Given the description of an element on the screen output the (x, y) to click on. 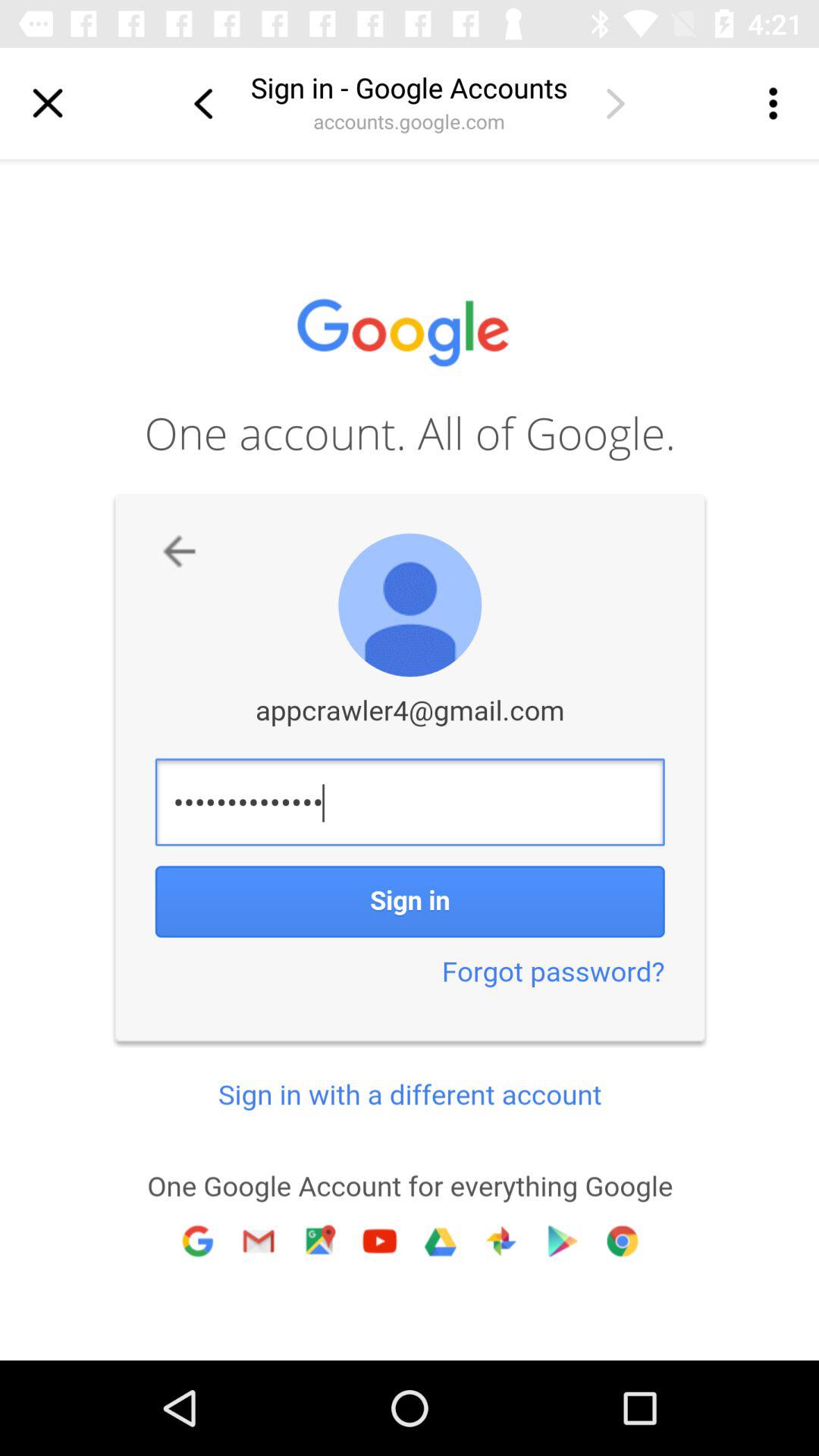
go to next page (615, 103)
